Given the description of an element on the screen output the (x, y) to click on. 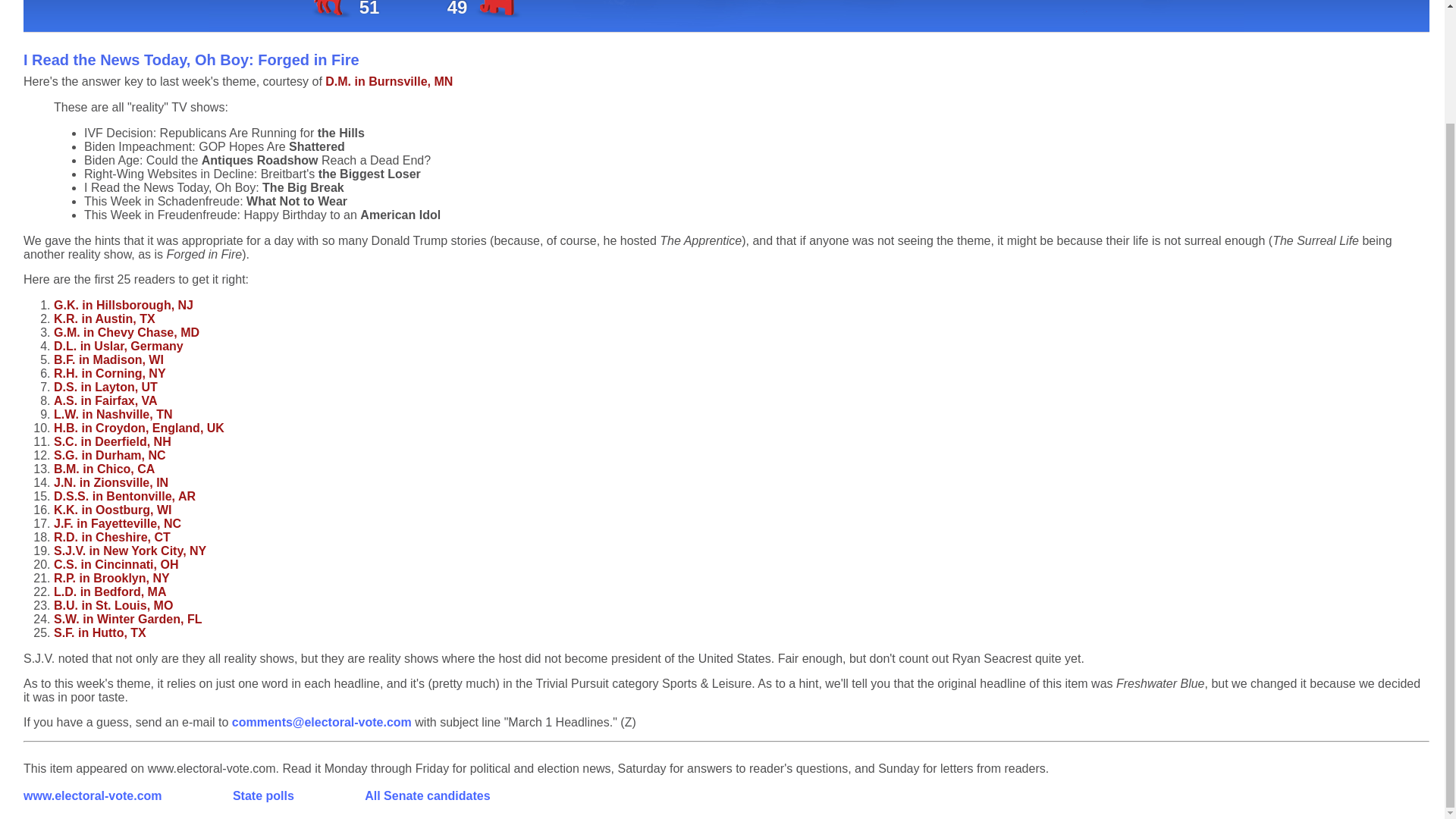
www.electoral-vote.com (92, 795)
State polls (263, 795)
All Senate candidates (427, 795)
